Given the description of an element on the screen output the (x, y) to click on. 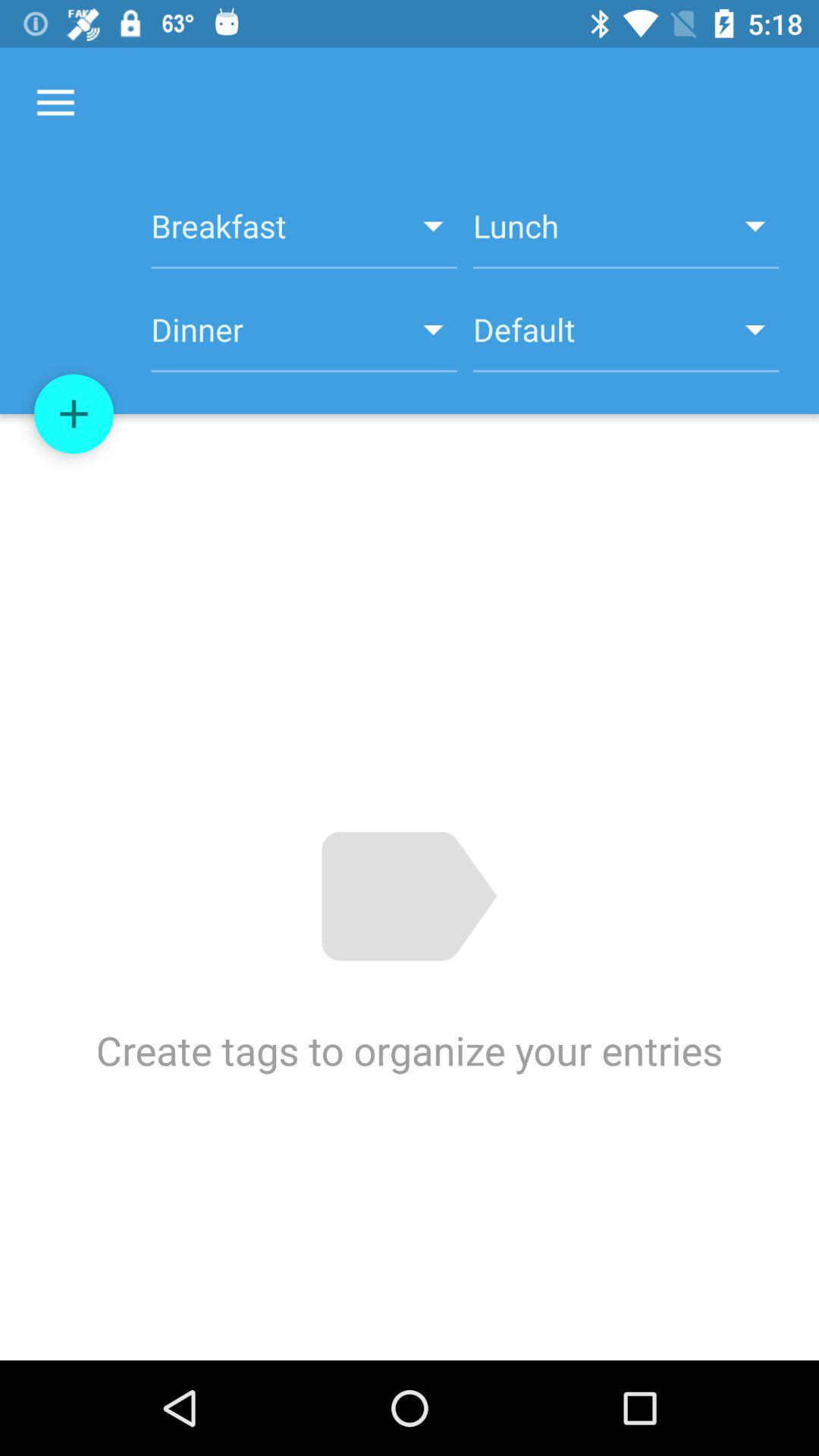
choose the icon next to dinner item (626, 338)
